Given the description of an element on the screen output the (x, y) to click on. 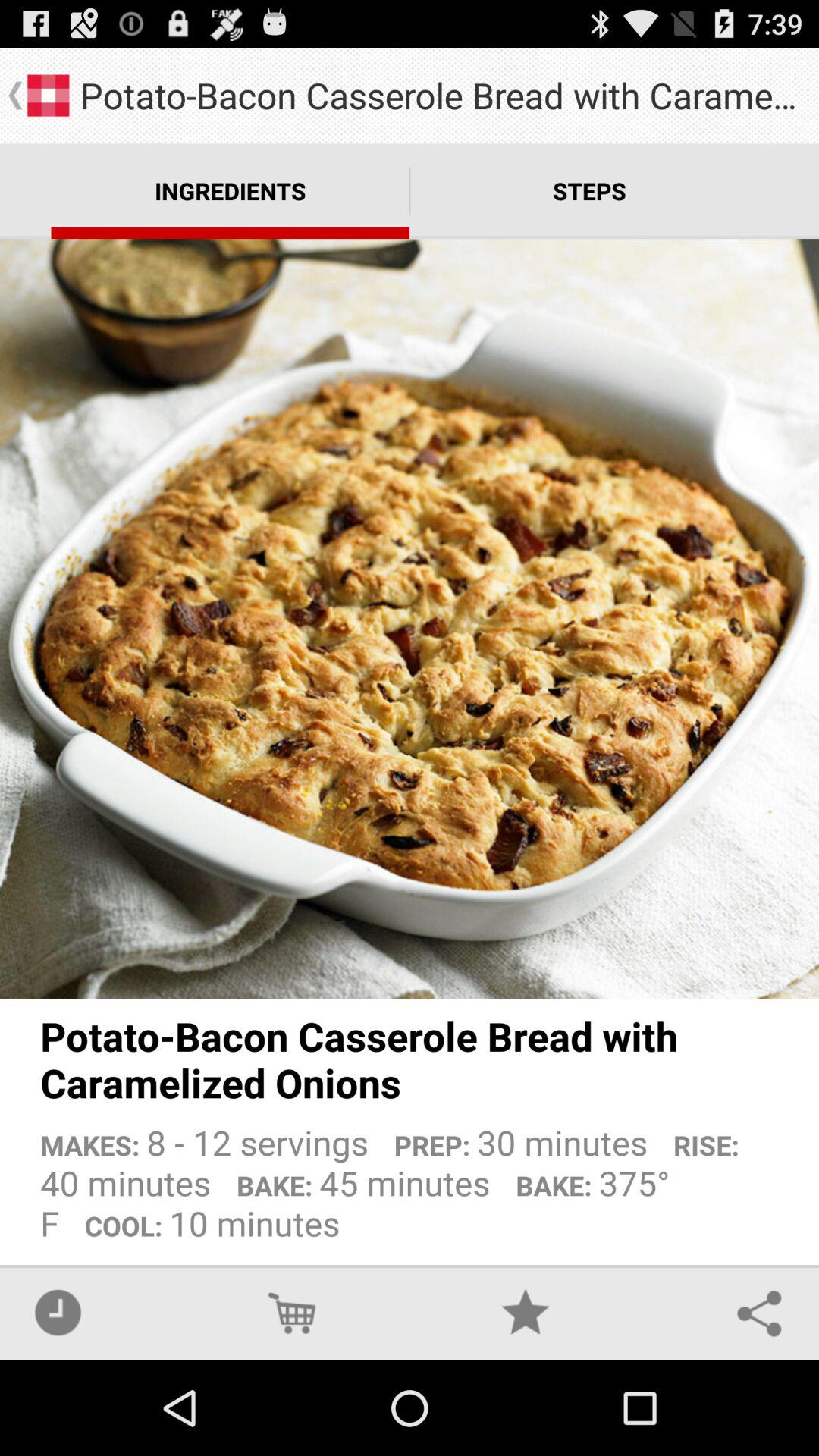
turn on the icon at the bottom left corner (58, 1312)
